Given the description of an element on the screen output the (x, y) to click on. 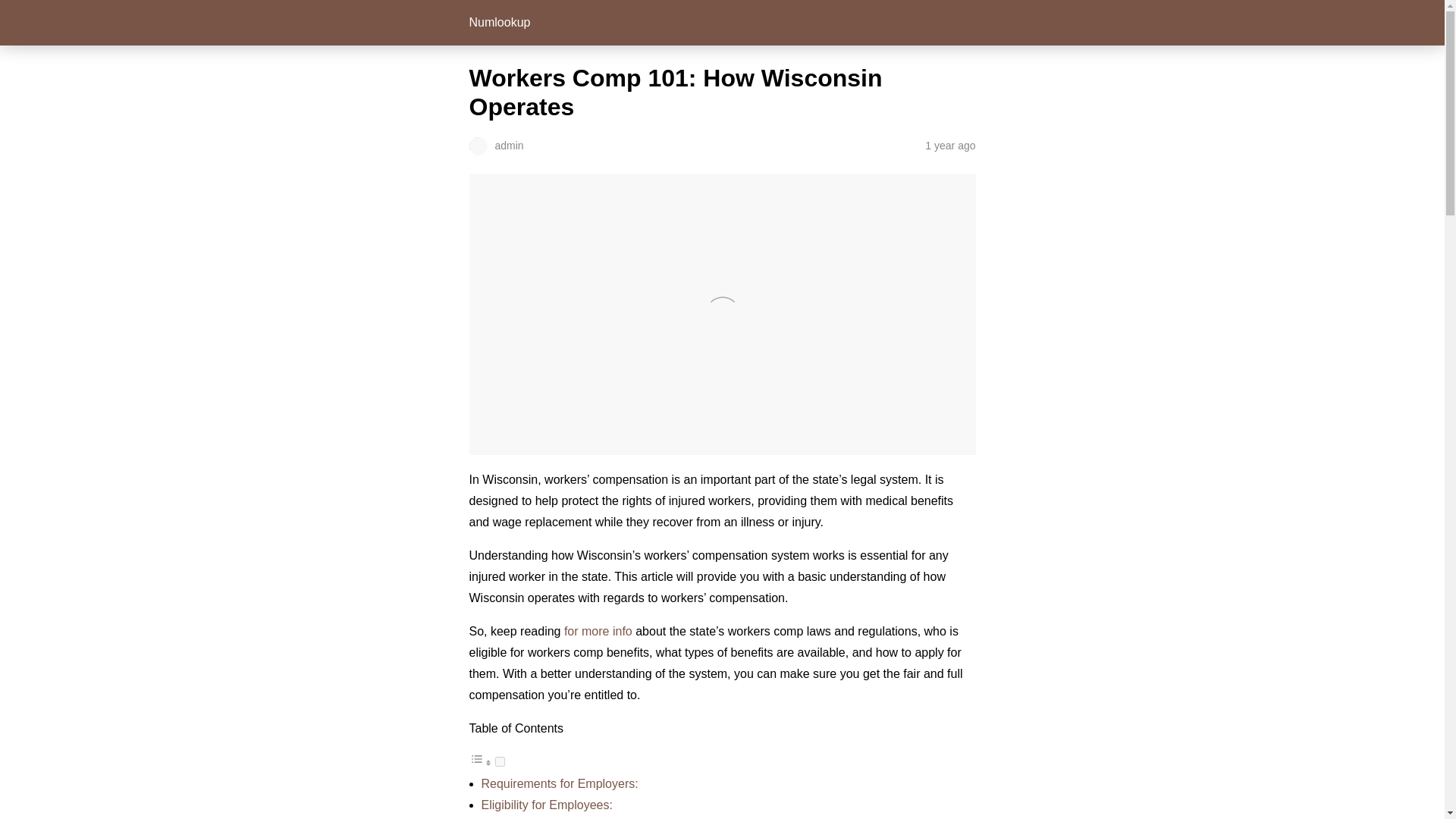
on (499, 761)
for more info (597, 631)
Requirements for Employers: (558, 783)
Eligibility for Employees: (545, 804)
Requirements for Employers: (558, 783)
Numlookup (498, 21)
Eligibility for Employees: (545, 804)
